Given the description of an element on the screen output the (x, y) to click on. 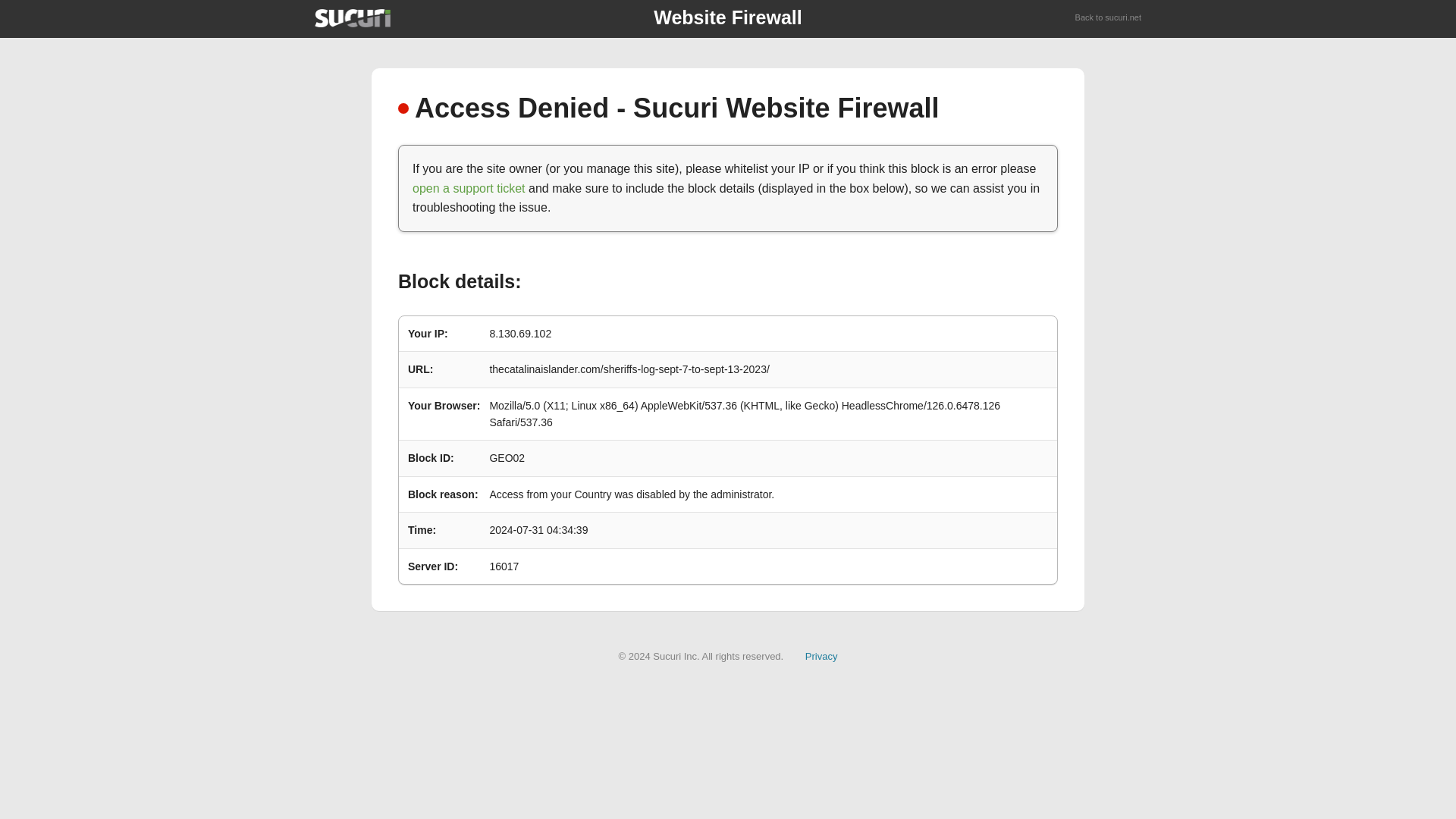
Back to sucuri.net (1108, 18)
open a support ticket (468, 187)
Privacy (821, 655)
